Given the description of an element on the screen output the (x, y) to click on. 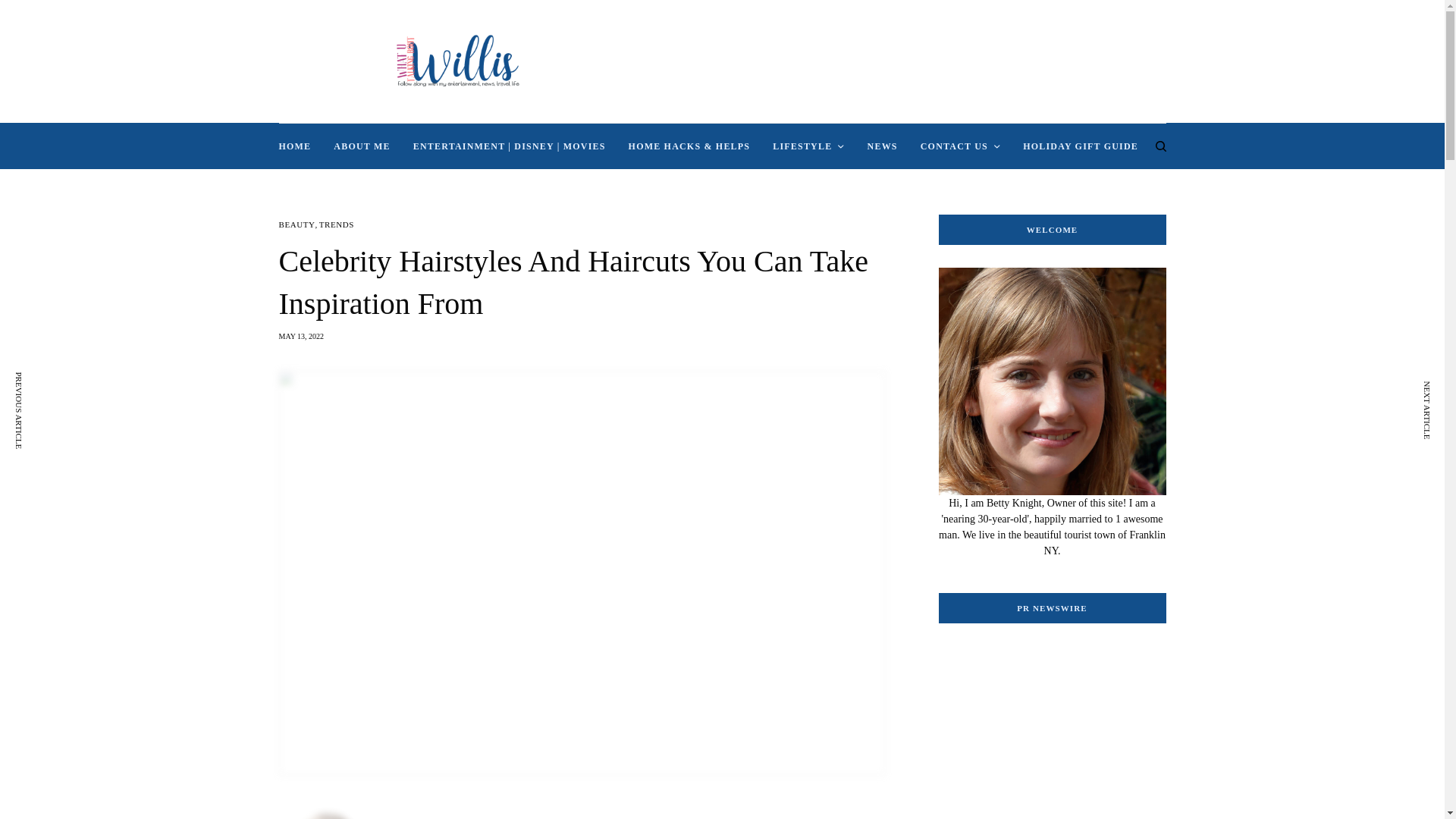
BEAUTY (297, 224)
LIFESTYLE (808, 145)
TRENDS (335, 224)
CONTACT US (960, 145)
What U Talking Bout Willis (456, 61)
HOLIDAY GIFT GUIDE (1080, 145)
ABOUT ME (361, 145)
